Given the description of an element on the screen output the (x, y) to click on. 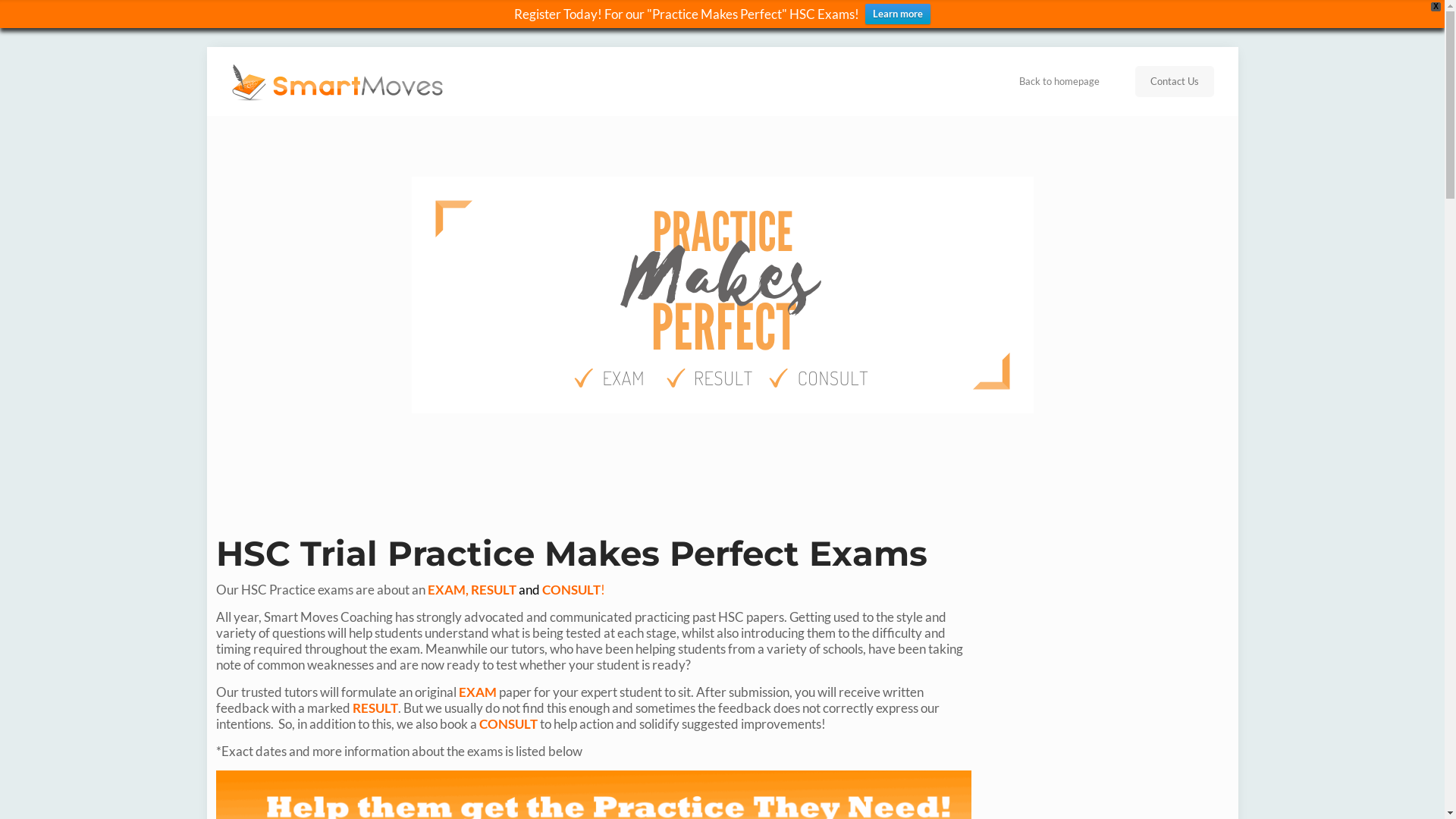
Smart Moves Tutoring Element type: hover (344, 81)
Learn more Element type: text (897, 13)
Contact Us Element type: text (1173, 80)
Back to homepage Element type: text (1059, 81)
